Given the description of an element on the screen output the (x, y) to click on. 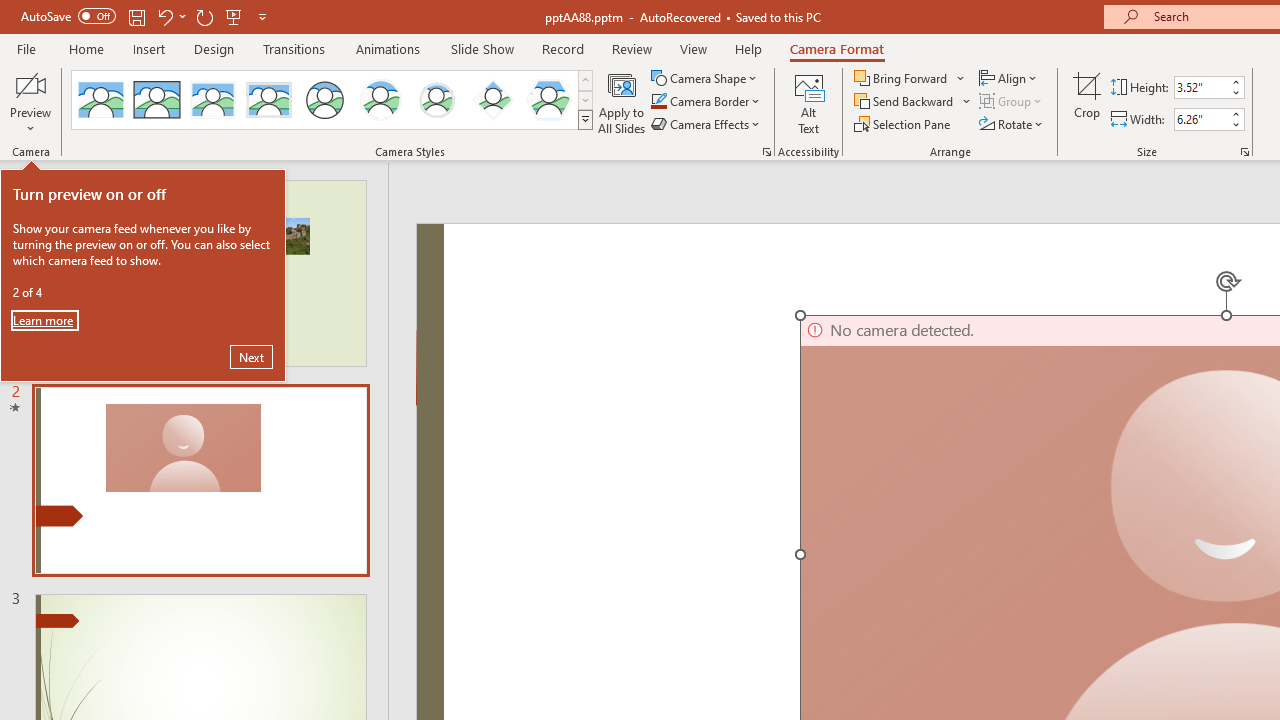
Simple Frame Circle (324, 100)
Camera Shape (705, 78)
Send Backward (913, 101)
Cameo Height (1201, 87)
Soft Edge Rectangle (268, 100)
Next (251, 356)
